Given the description of an element on the screen output the (x, y) to click on. 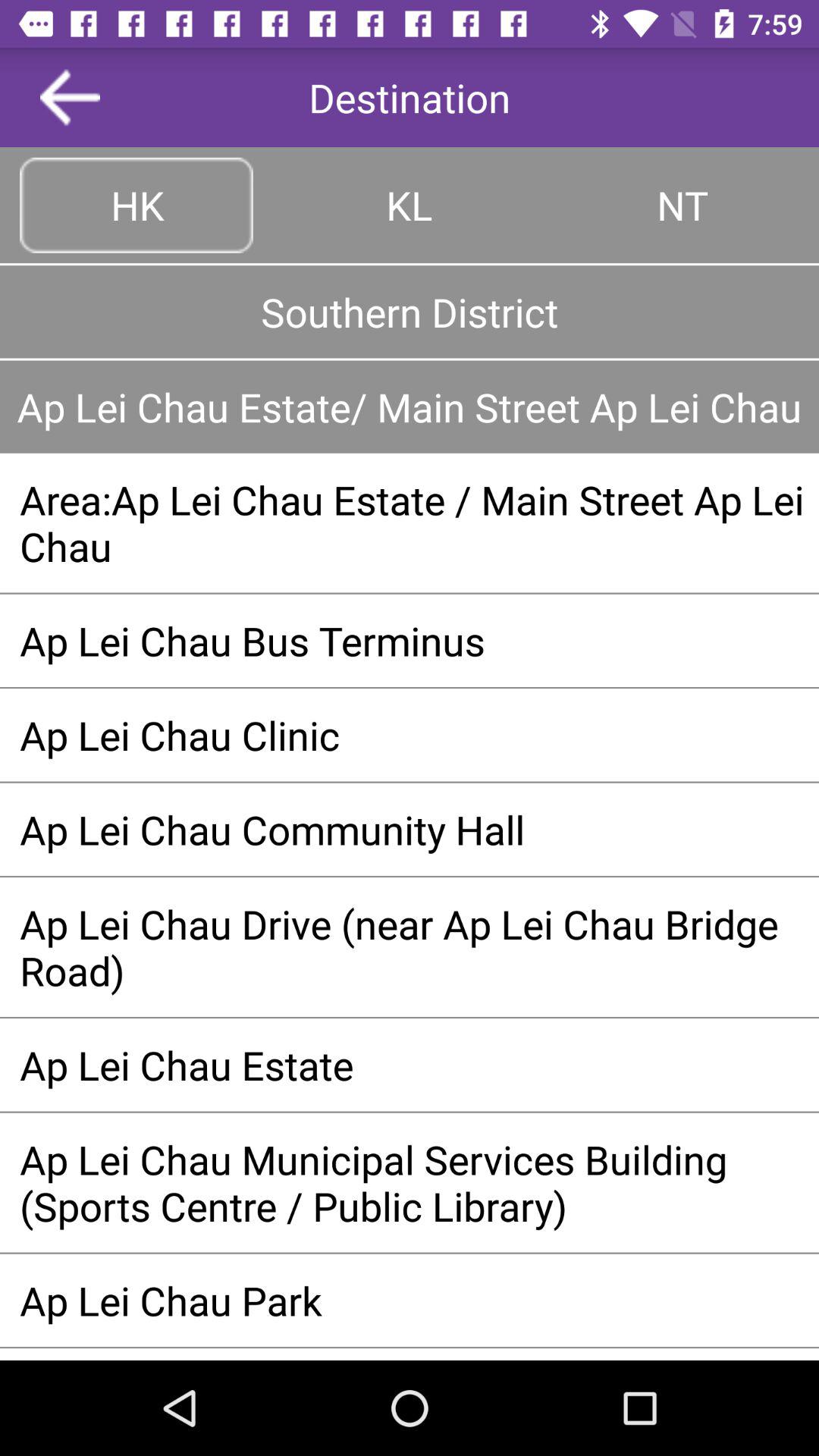
open kl (409, 205)
